Given the description of an element on the screen output the (x, y) to click on. 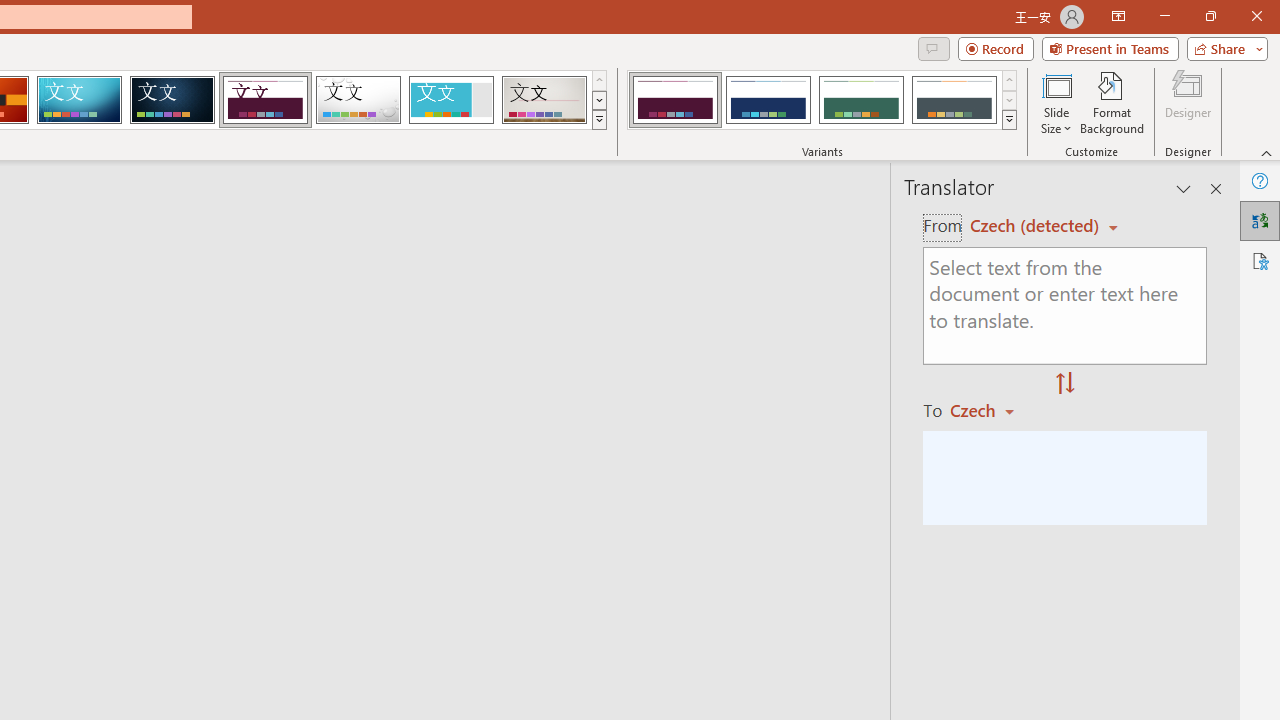
Czech (detected) (1037, 225)
Variants (1009, 120)
Dividend Variant 2 (768, 100)
